Given the description of an element on the screen output the (x, y) to click on. 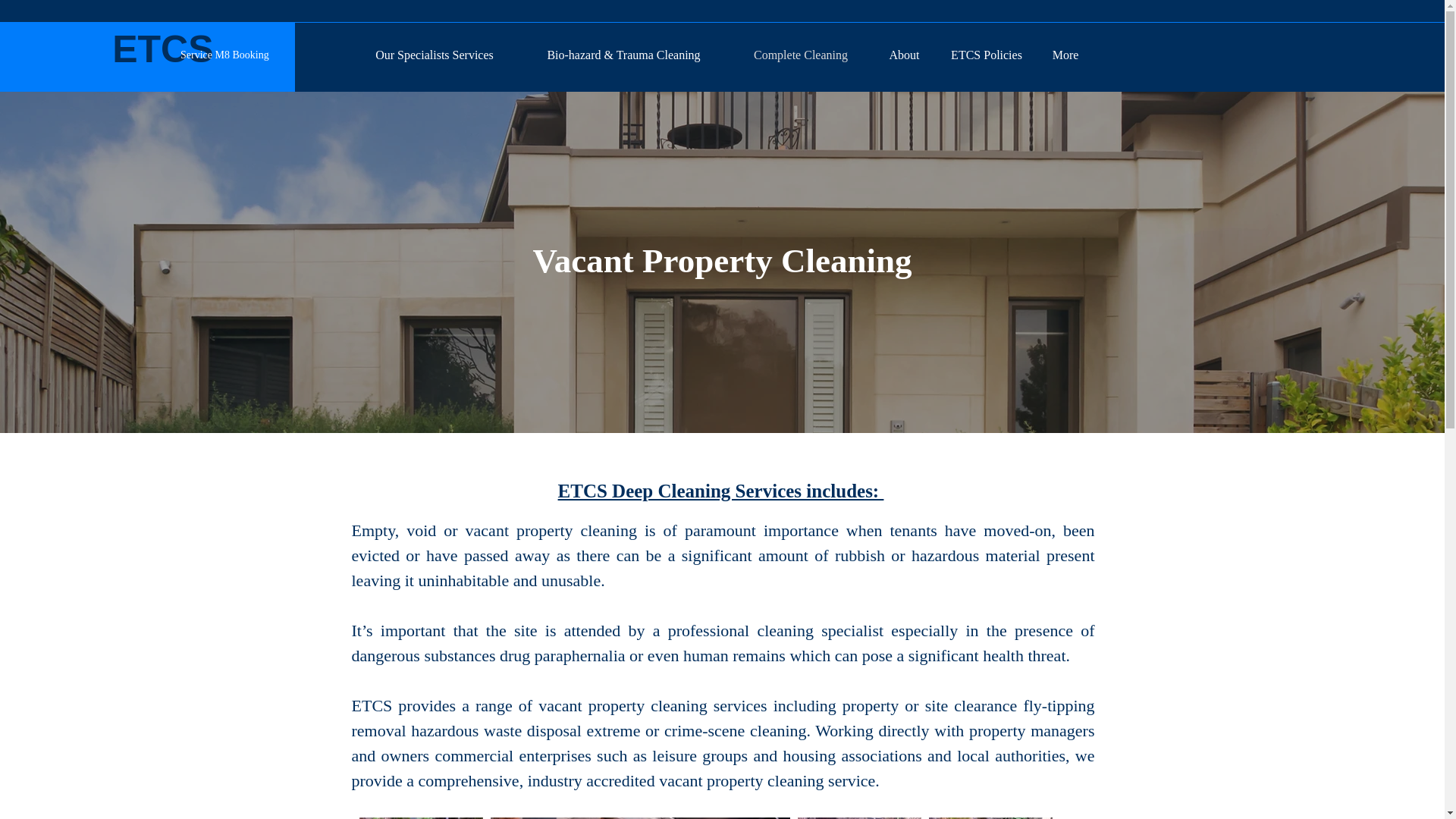
Our Specialists Services (434, 55)
ETCS Policies (986, 55)
ETCS (162, 48)
Service M8 Booking (224, 55)
About (904, 55)
Complete Cleaning (800, 55)
